Given the description of an element on the screen output the (x, y) to click on. 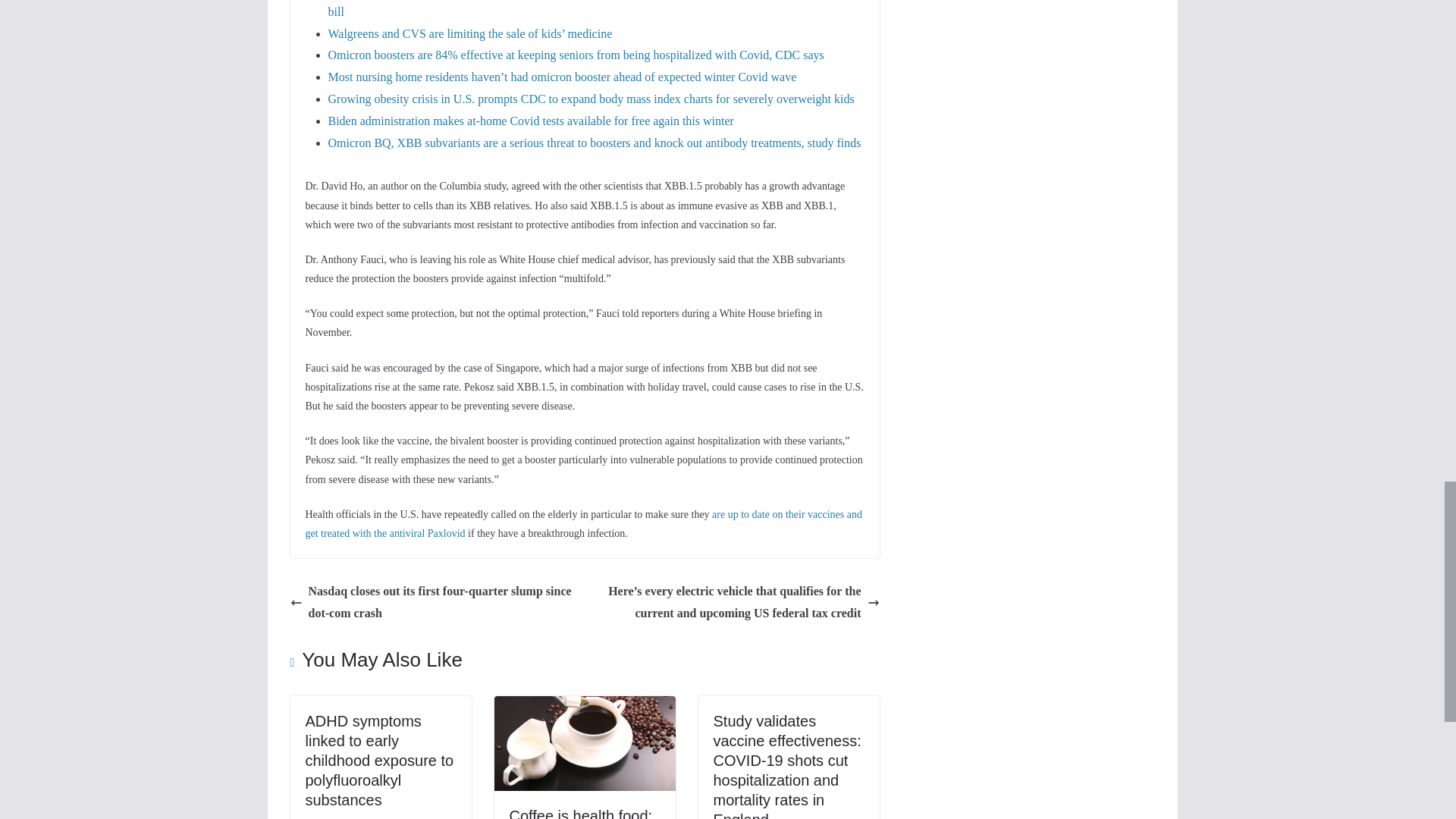
Coffee is health food: Myth or fact? (580, 813)
Coffee is health food: Myth or fact? (585, 706)
